Given the description of an element on the screen output the (x, y) to click on. 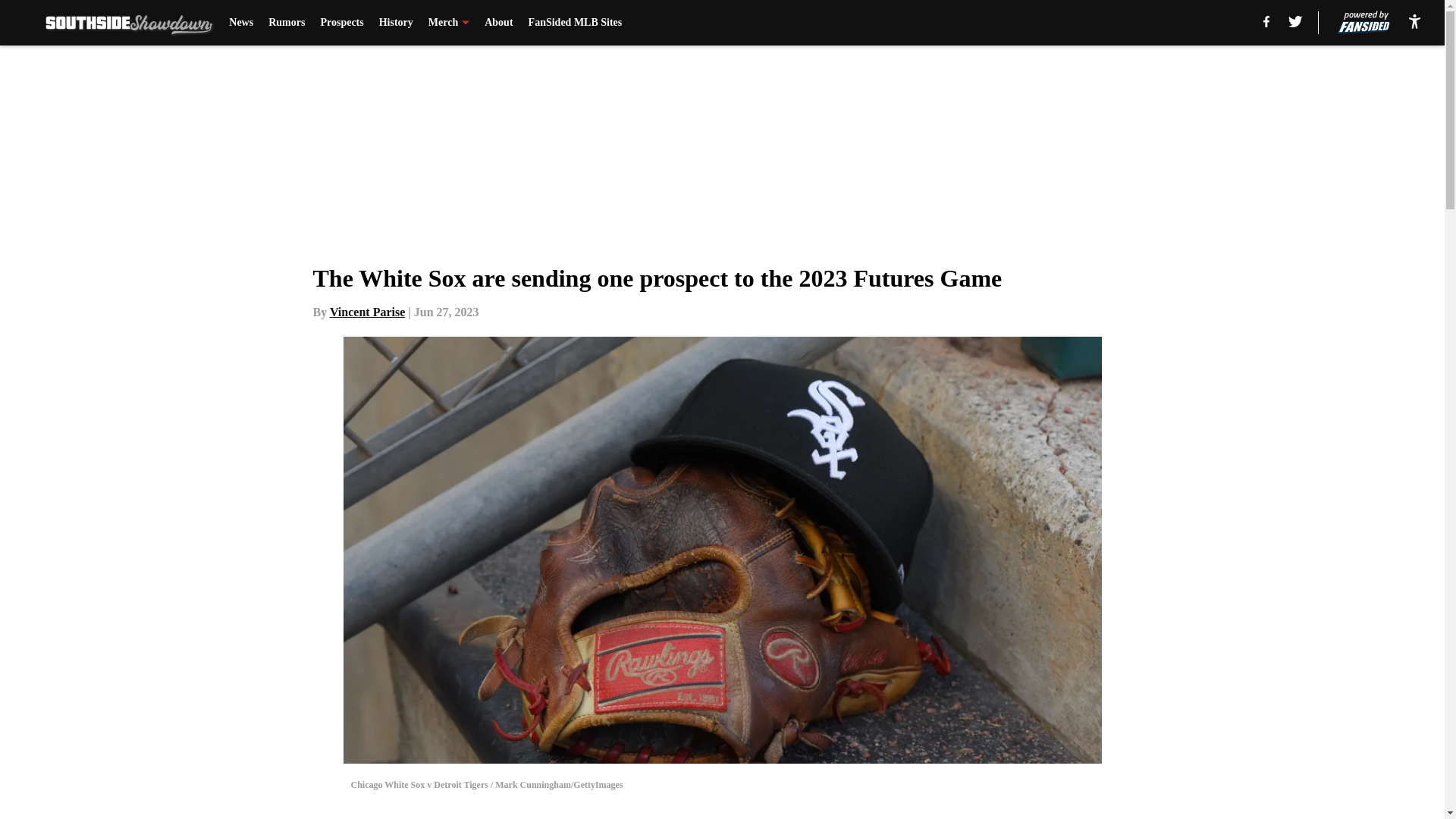
News (240, 22)
FanSided MLB Sites (575, 22)
Prospects (341, 22)
About (498, 22)
Rumors (285, 22)
Vincent Parise (367, 311)
History (395, 22)
